Given the description of an element on the screen output the (x, y) to click on. 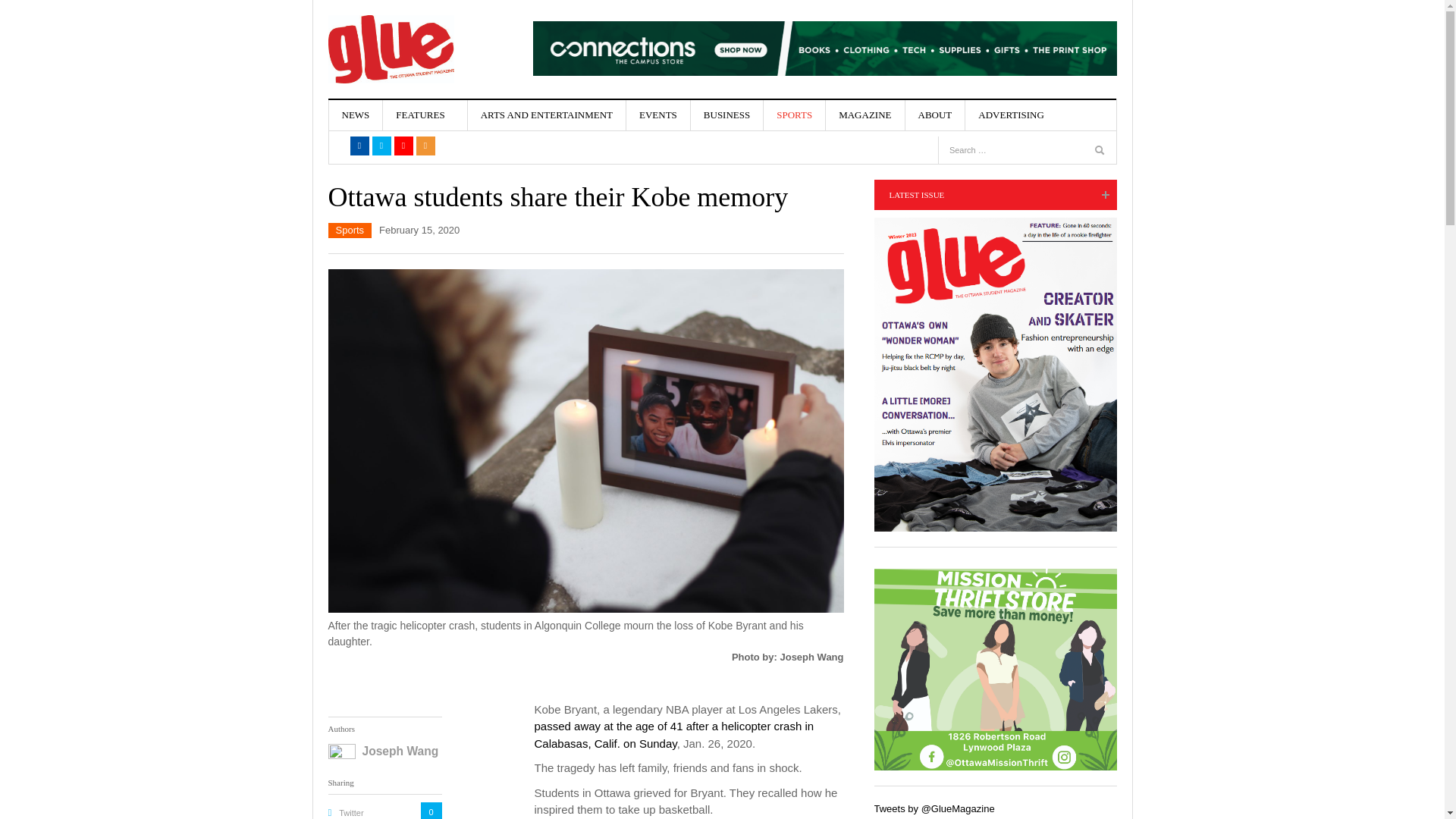
I Broke Up With The Internet And Saved My Marriage (630, 158)
POLITICAL (438, 171)
They mislead us to divide us: the disinformation beast (643, 351)
Glue Magazine (389, 49)
VIDEO (438, 217)
Late-night expeditions with good company (526, 263)
NEWS (355, 114)
SOCIAL (438, 194)
Search (1100, 151)
Late-night expeditions with good company (631, 254)
RETRO REVIEW (438, 300)
Glue Magazine (389, 49)
LOUNGE (438, 240)
PODCAST REVIEW (438, 270)
View All (628, 381)
